Given the description of an element on the screen output the (x, y) to click on. 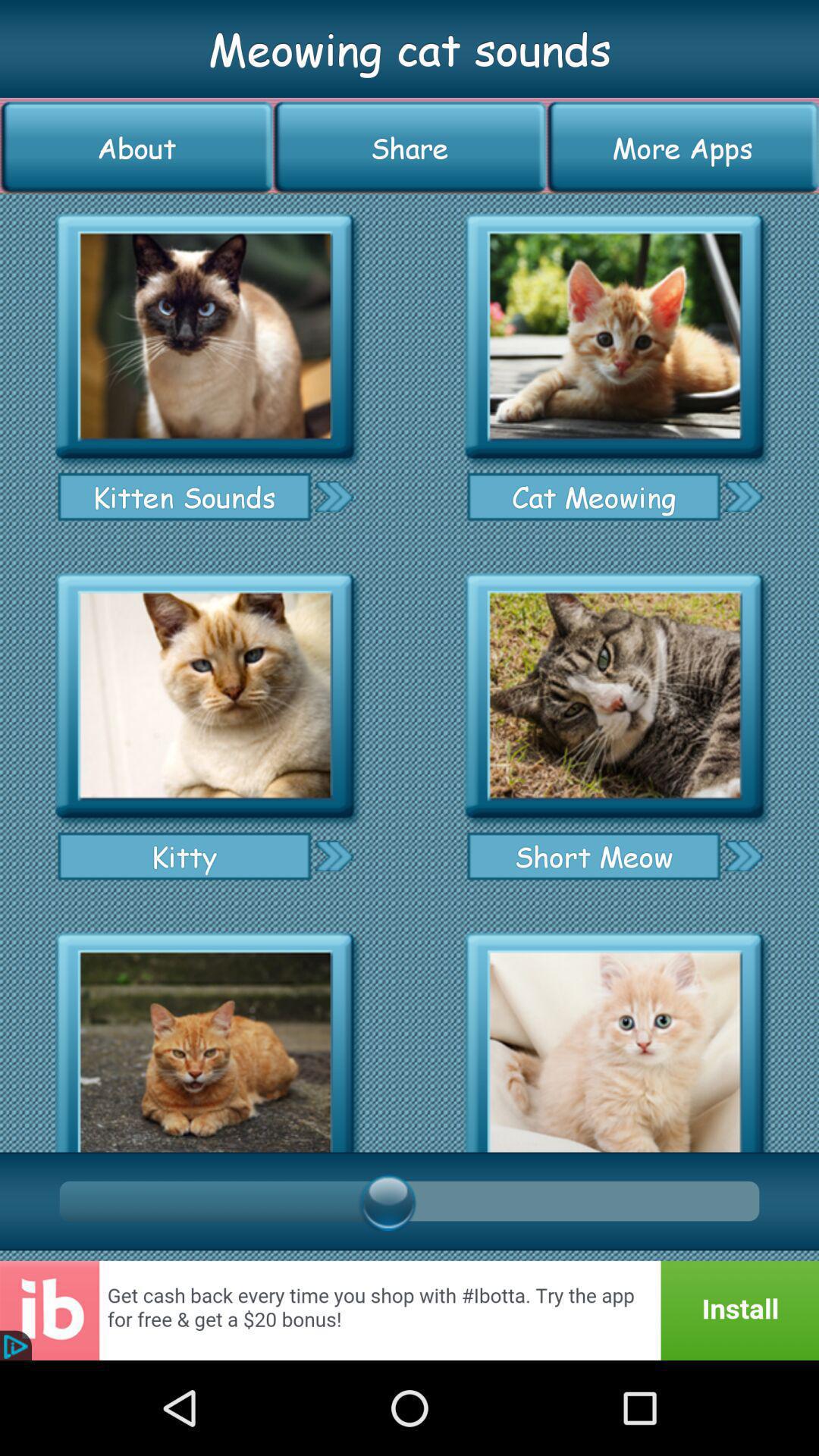
turn off the icon next to the about item (409, 147)
